Given the description of an element on the screen output the (x, y) to click on. 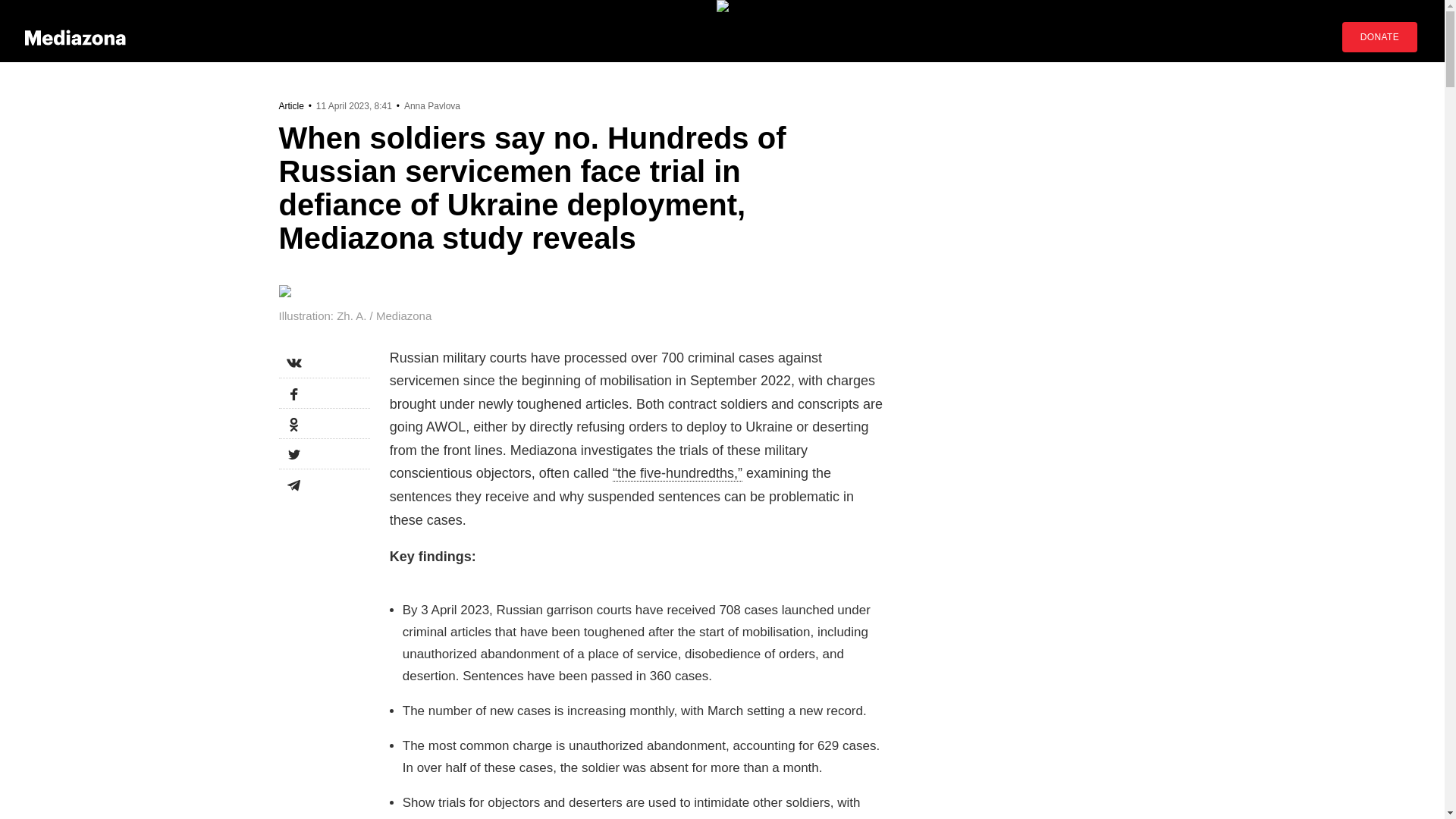
Anna Pavlova (432, 105)
DONATE (1379, 37)
